Given the description of an element on the screen output the (x, y) to click on. 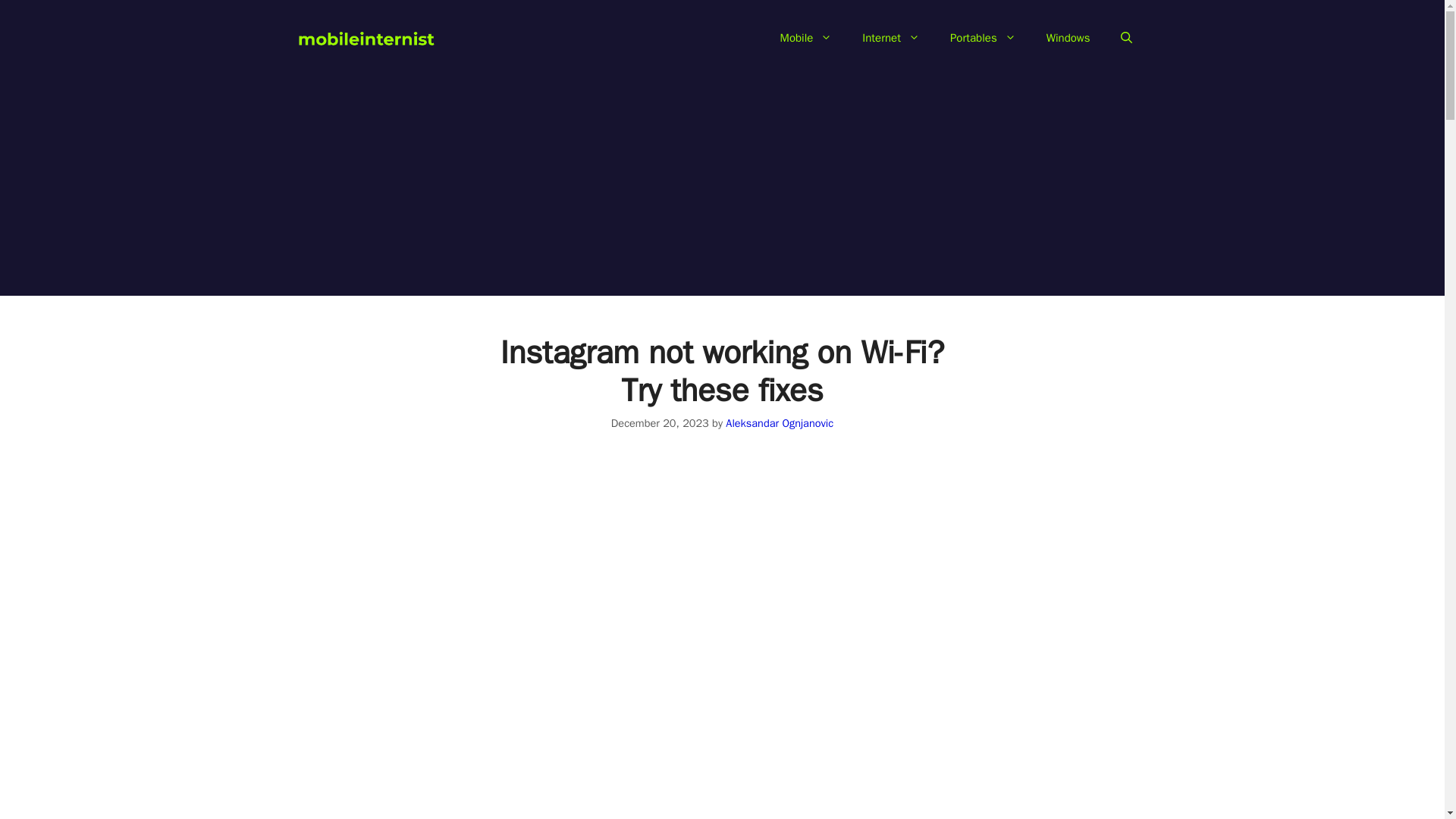
Internet (890, 37)
Mobile (806, 37)
Portables (982, 37)
Aleksandar Ognjanovic (778, 422)
Windows (1067, 37)
View all posts by Aleksandar Ognjanovic (778, 422)
